Given the description of an element on the screen output the (x, y) to click on. 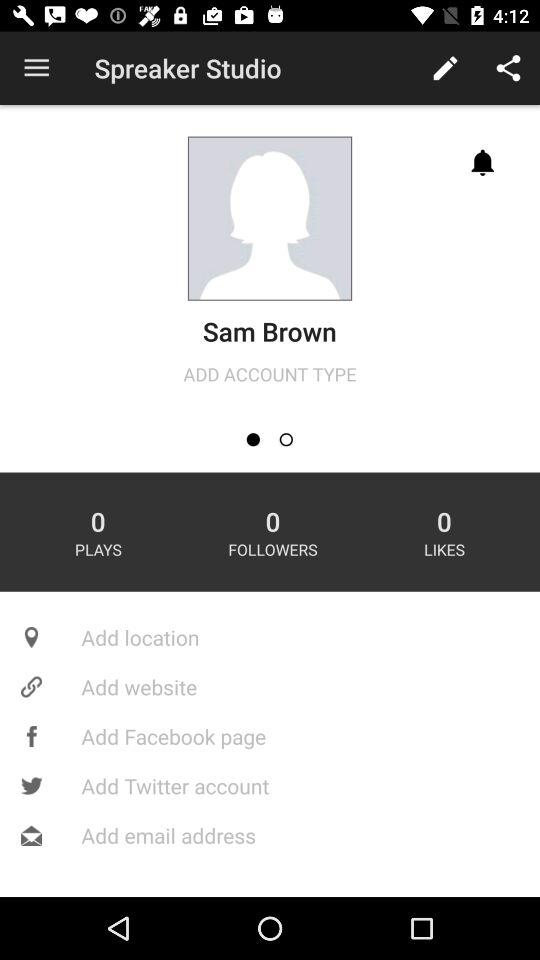
launch icon above the 0 (285, 439)
